Given the description of an element on the screen output the (x, y) to click on. 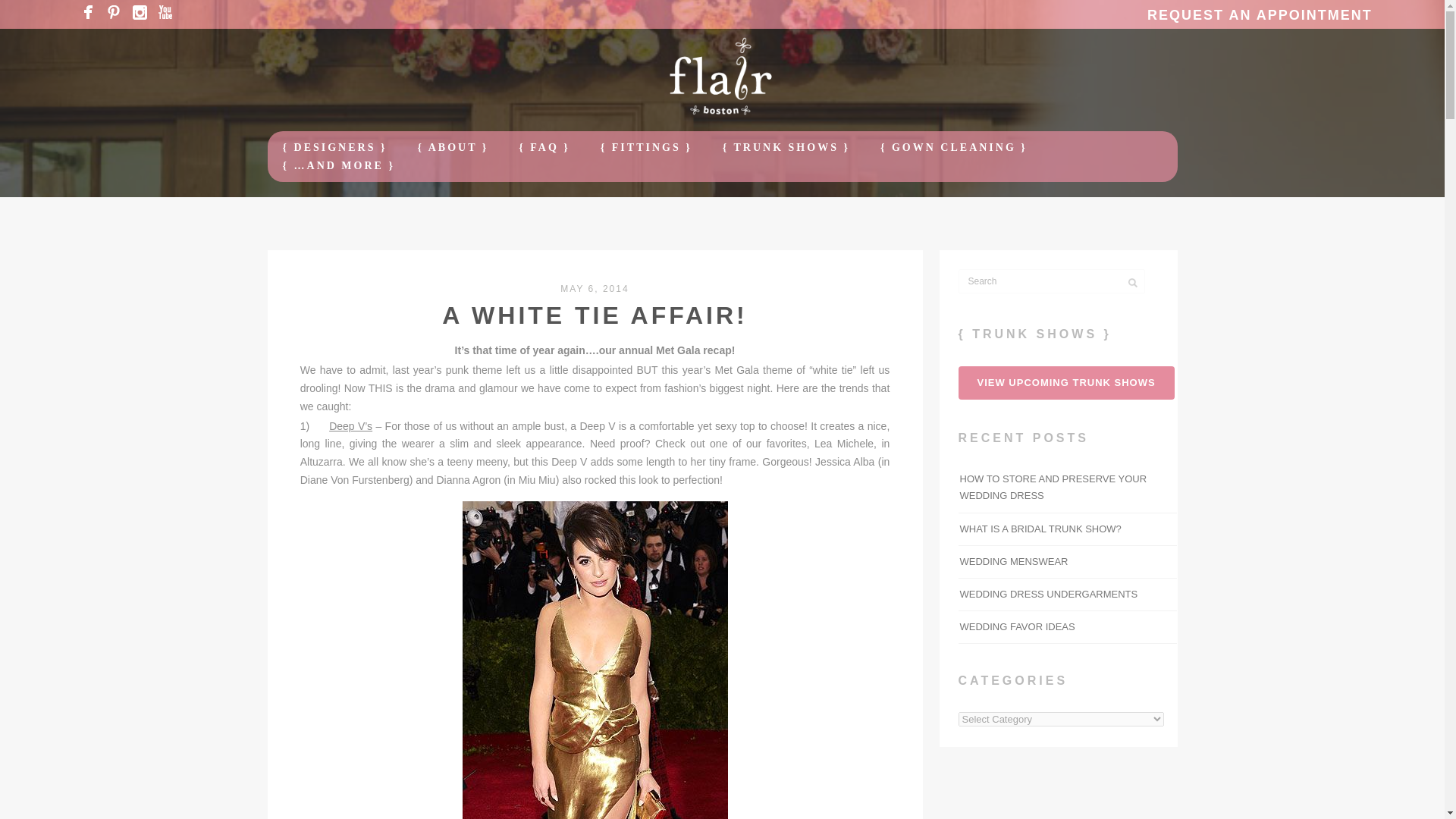
  REQUEST AN APPOINTMENT (1255, 15)
